Given the description of an element on the screen output the (x, y) to click on. 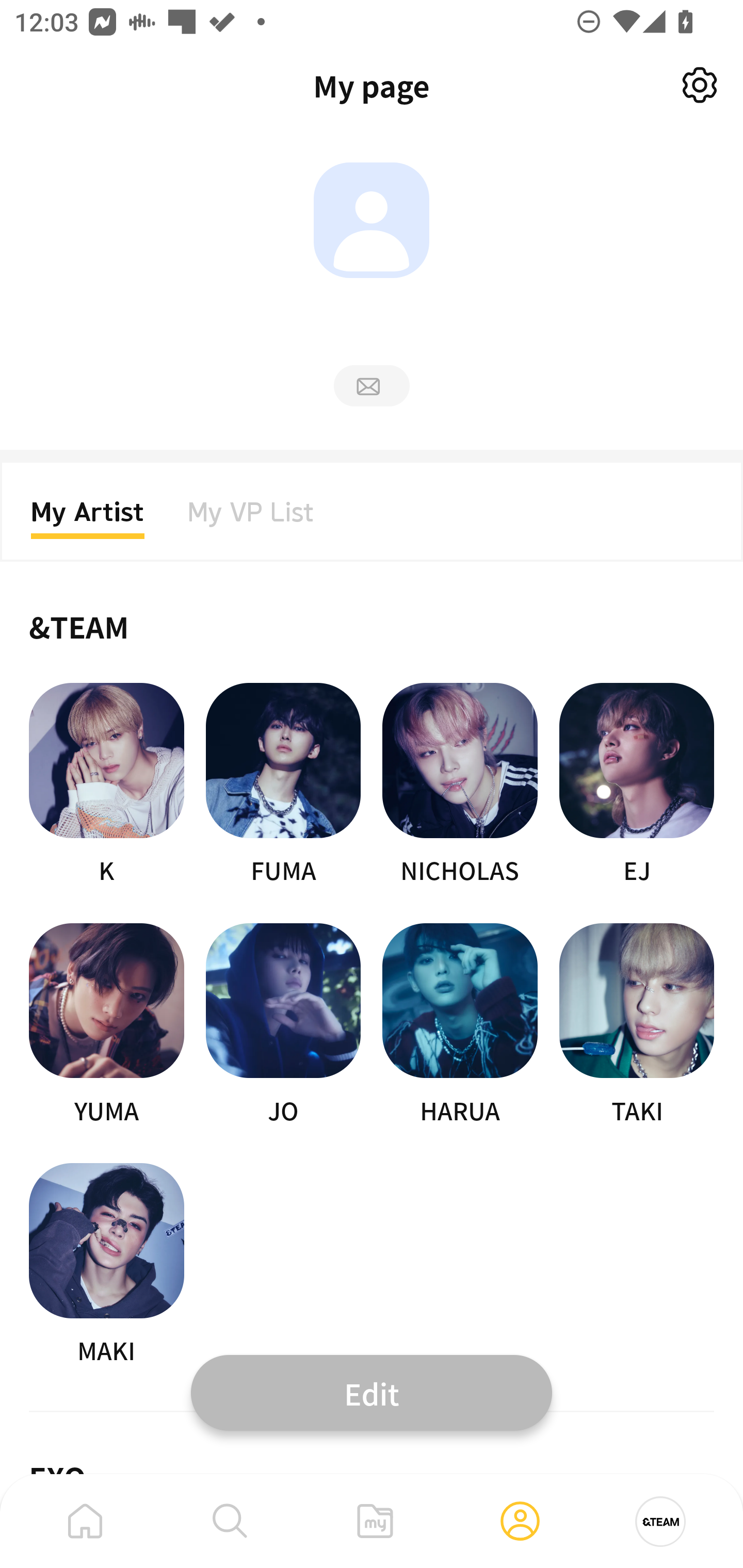
My Artist (87, 517)
My VP List (250, 517)
K (106, 785)
FUMA (282, 785)
NICHOLAS (459, 785)
EJ (636, 785)
YUMA (106, 1025)
JO (282, 1025)
HARUA (459, 1025)
TAKI (636, 1025)
MAKI (106, 1265)
Edit (371, 1392)
